Given the description of an element on the screen output the (x, y) to click on. 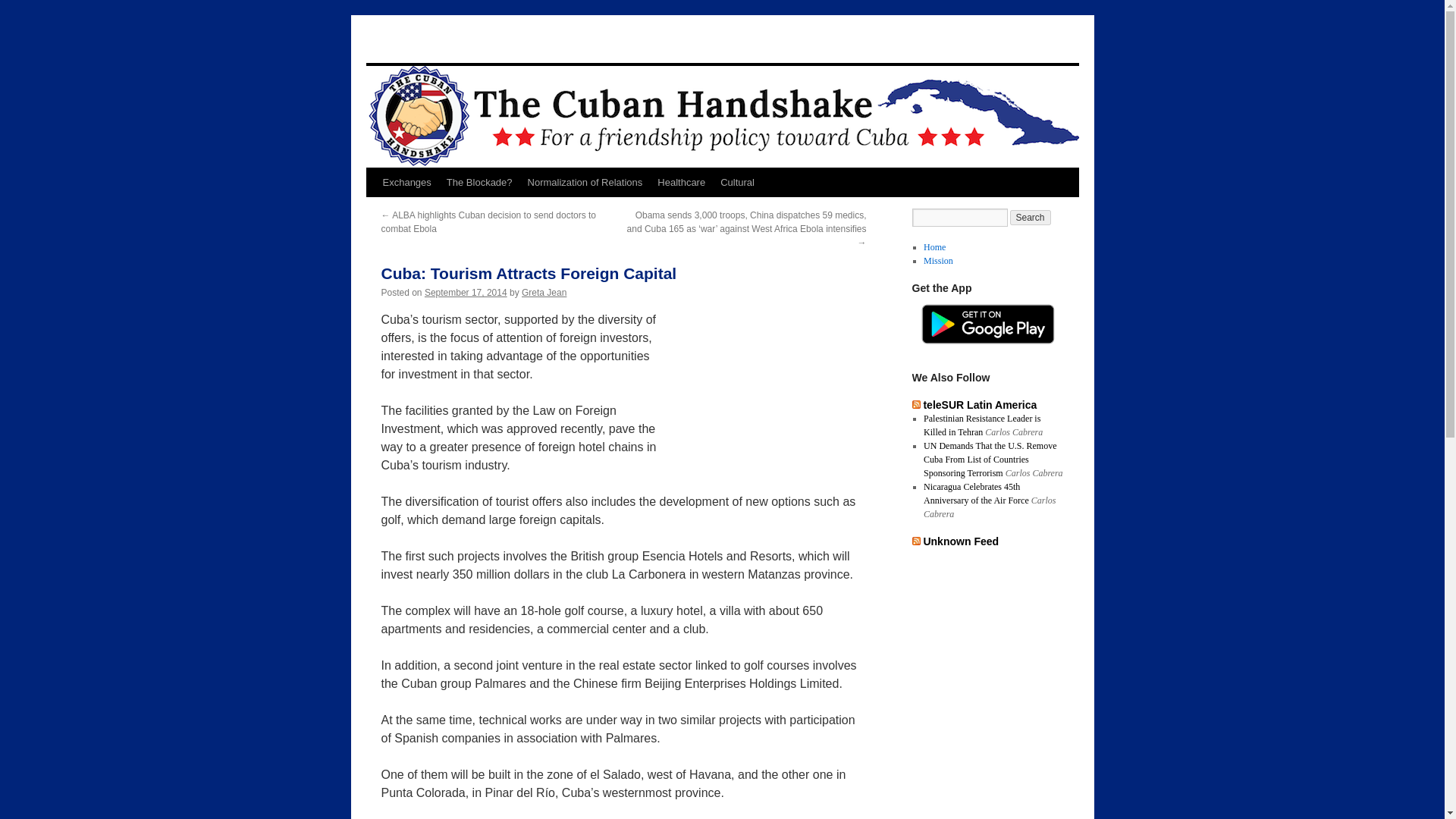
Nicaragua Celebrates 45th Anniversary of the Air Force (976, 493)
Normalization of Relations (584, 182)
Healthcare (681, 182)
Home (933, 246)
2:30 pm (465, 292)
teleSUR Latin America (979, 404)
The Blockade? (479, 182)
Exchanges (406, 182)
View all posts by Greta Jean (543, 292)
Mission (938, 260)
Search (1030, 217)
Palestinian Resistance Leader is Killed in Tehran (982, 425)
Greta Jean (543, 292)
Search (1030, 217)
